Given the description of an element on the screen output the (x, y) to click on. 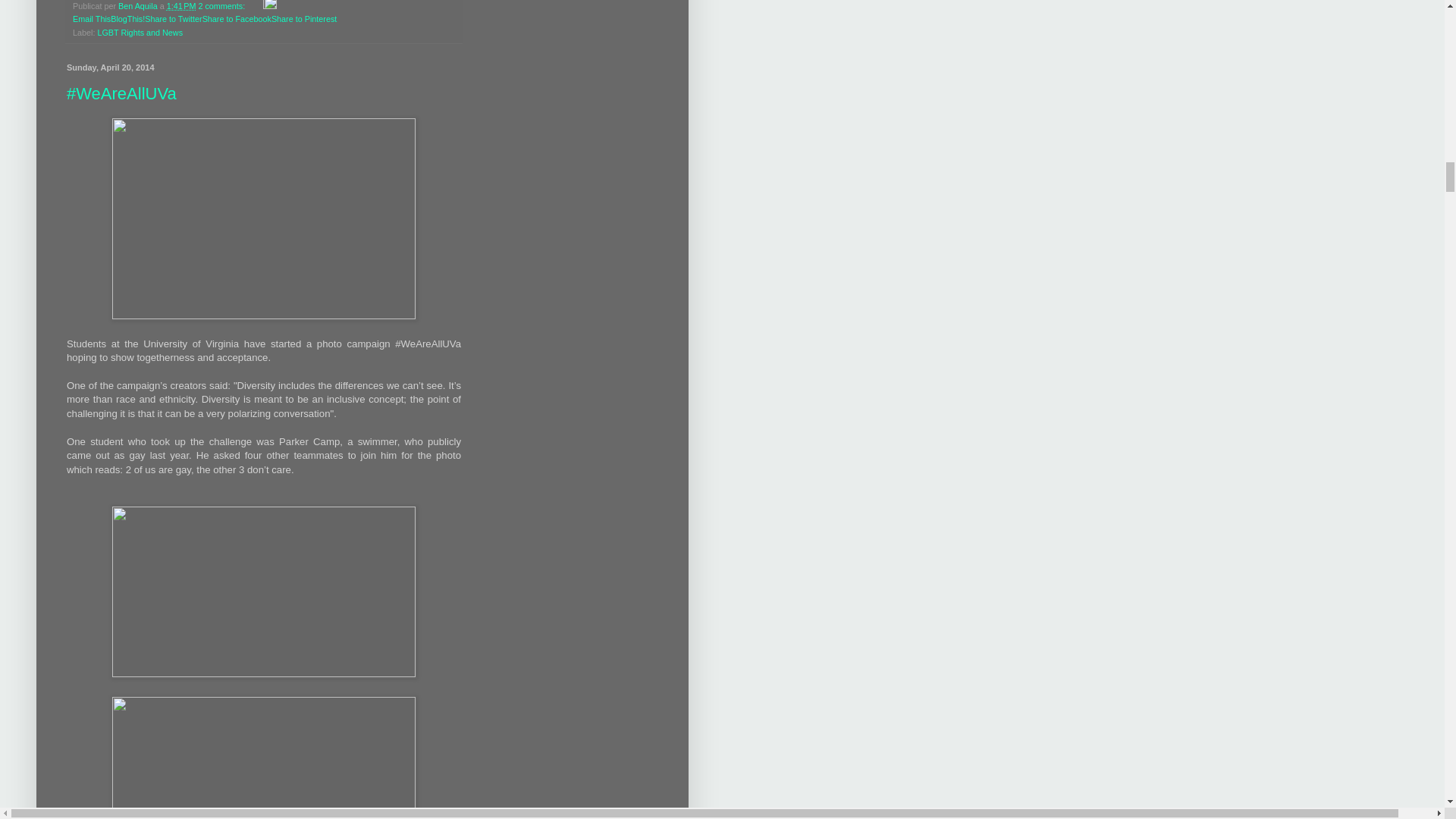
2 comments: (222, 5)
Share to Pinterest (303, 18)
Share to Twitter (173, 18)
Email This (91, 18)
BlogThis! (127, 18)
author profile (138, 5)
Ben Aquila (138, 5)
Edit Post (269, 5)
LGBT Rights and News (140, 31)
Email Post (255, 5)
BlogThis! (127, 18)
Email This (91, 18)
Share to Facebook (236, 18)
permanent link (181, 5)
